Given the description of an element on the screen output the (x, y) to click on. 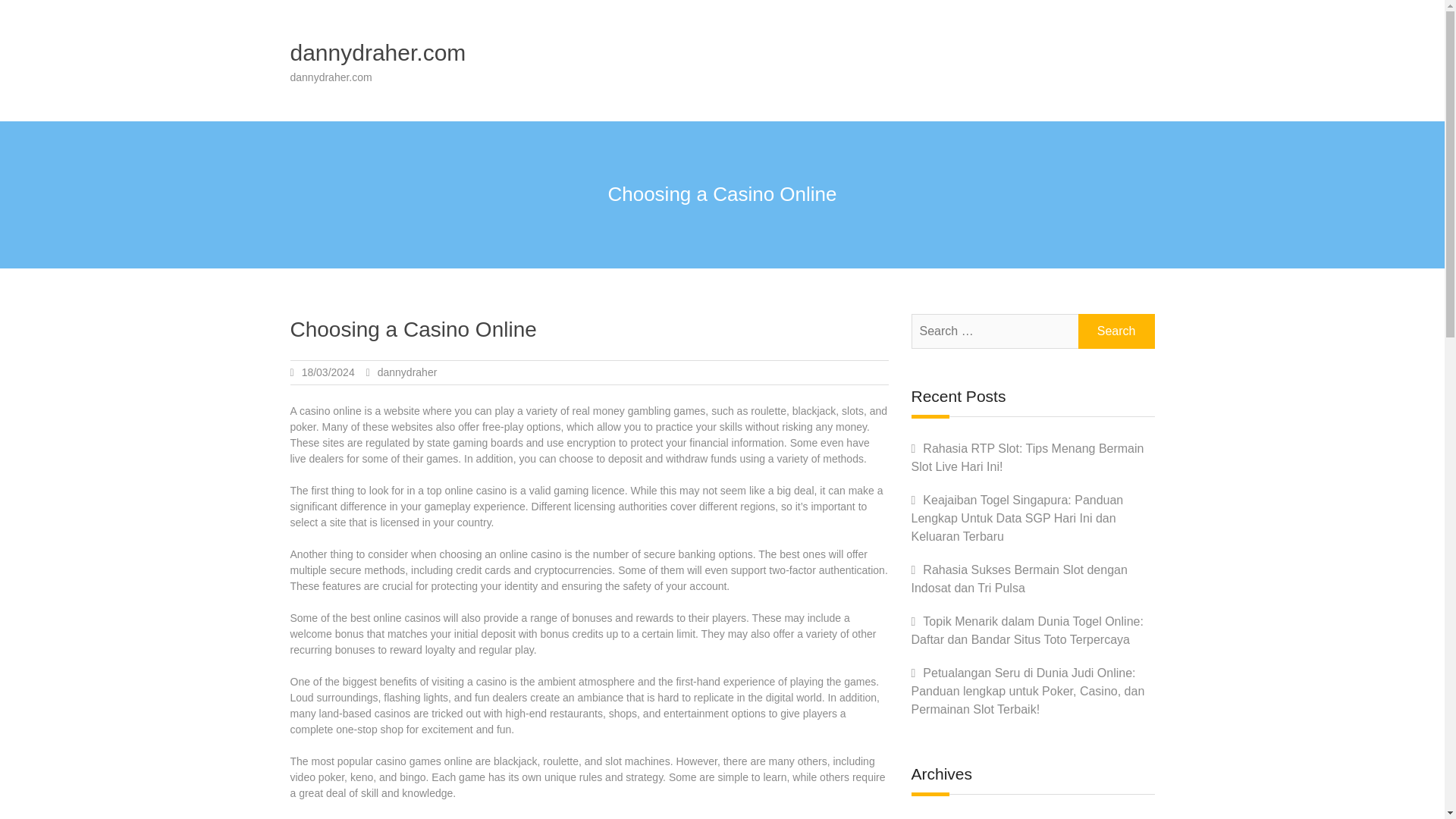
Search (1116, 330)
Search (1116, 330)
dannydraher (407, 372)
Rahasia RTP Slot: Tips Menang Bermain Slot Live Hari Ini! (1027, 457)
dannydraher.com (377, 52)
Search (1116, 330)
Rahasia Sukses Bermain Slot dengan Indosat dan Tri Pulsa (1018, 578)
